Given the description of an element on the screen output the (x, y) to click on. 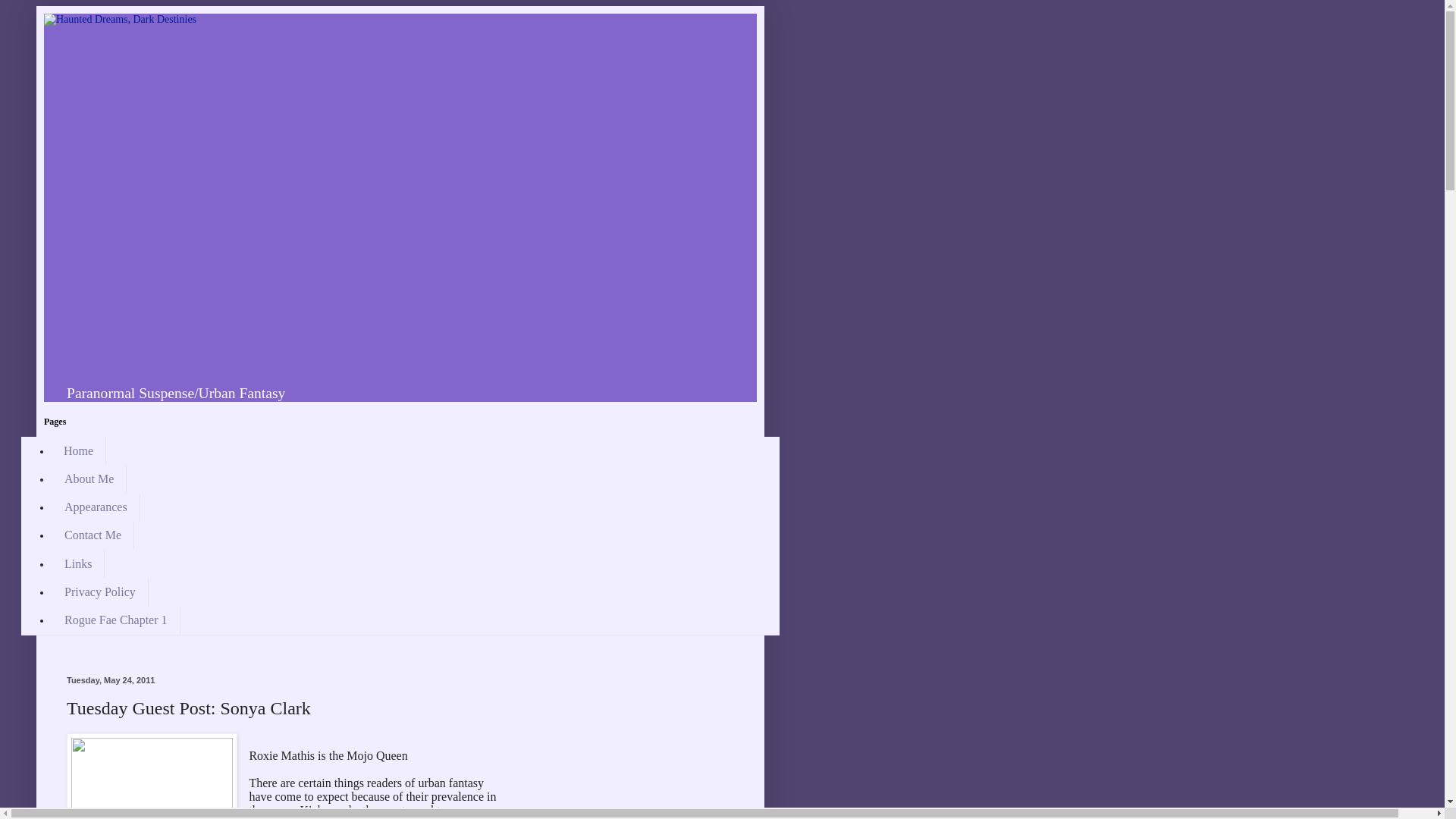
Appearances (94, 507)
Rogue Fae Chapter 1 (115, 619)
Privacy Policy (99, 592)
Links (77, 563)
Home (78, 450)
Contact Me (91, 535)
About Me (88, 479)
